Given the description of an element on the screen output the (x, y) to click on. 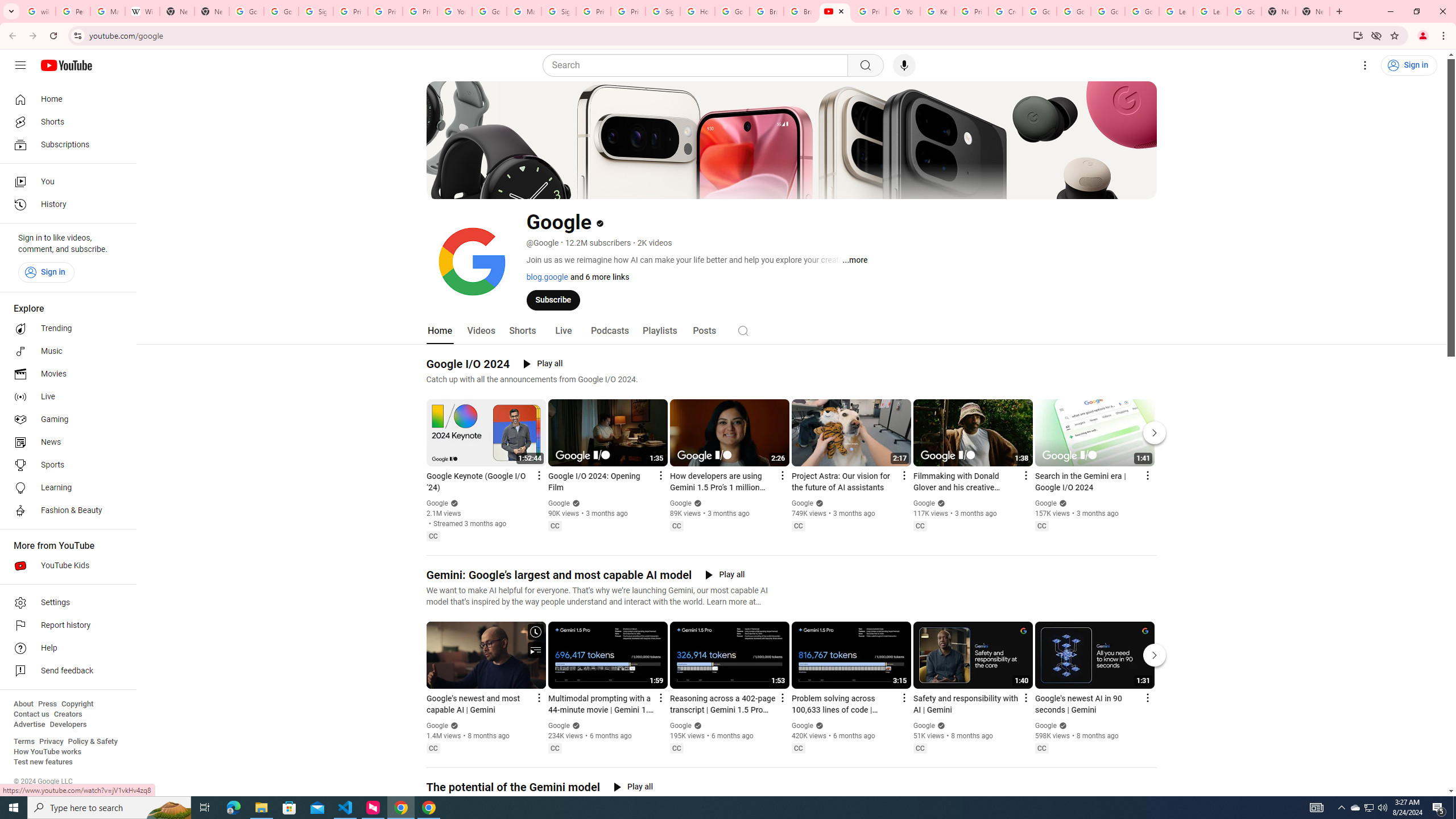
Report history (64, 625)
Policy & Safety (91, 741)
YouTube Home (66, 65)
Press (46, 703)
Movies (64, 373)
Fashion & Beauty (64, 510)
Action menu (1146, 697)
Playlists (659, 330)
Google Drive: Sign-in (281, 11)
